Given the description of an element on the screen output the (x, y) to click on. 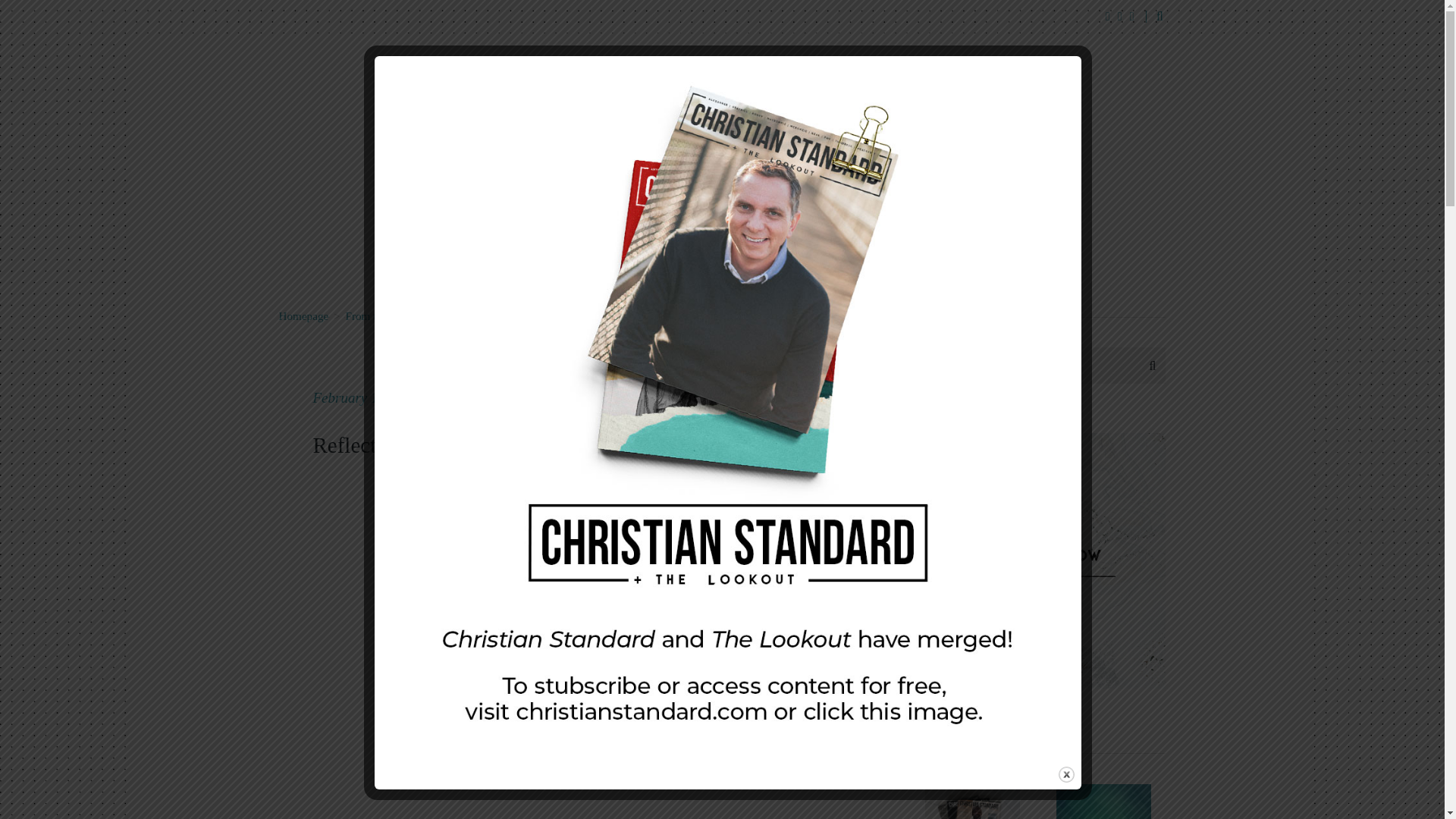
February 17, 2013 (369, 397)
From the Editor (382, 315)
About Us (487, 187)
FREE! (678, 187)
Homepage (304, 315)
Shawn McMullen (476, 315)
Posts by Mike (465, 397)
NEW! CC Churchlink (928, 187)
Print Subscriptions (787, 187)
Contact Us (586, 187)
